Given the description of an element on the screen output the (x, y) to click on. 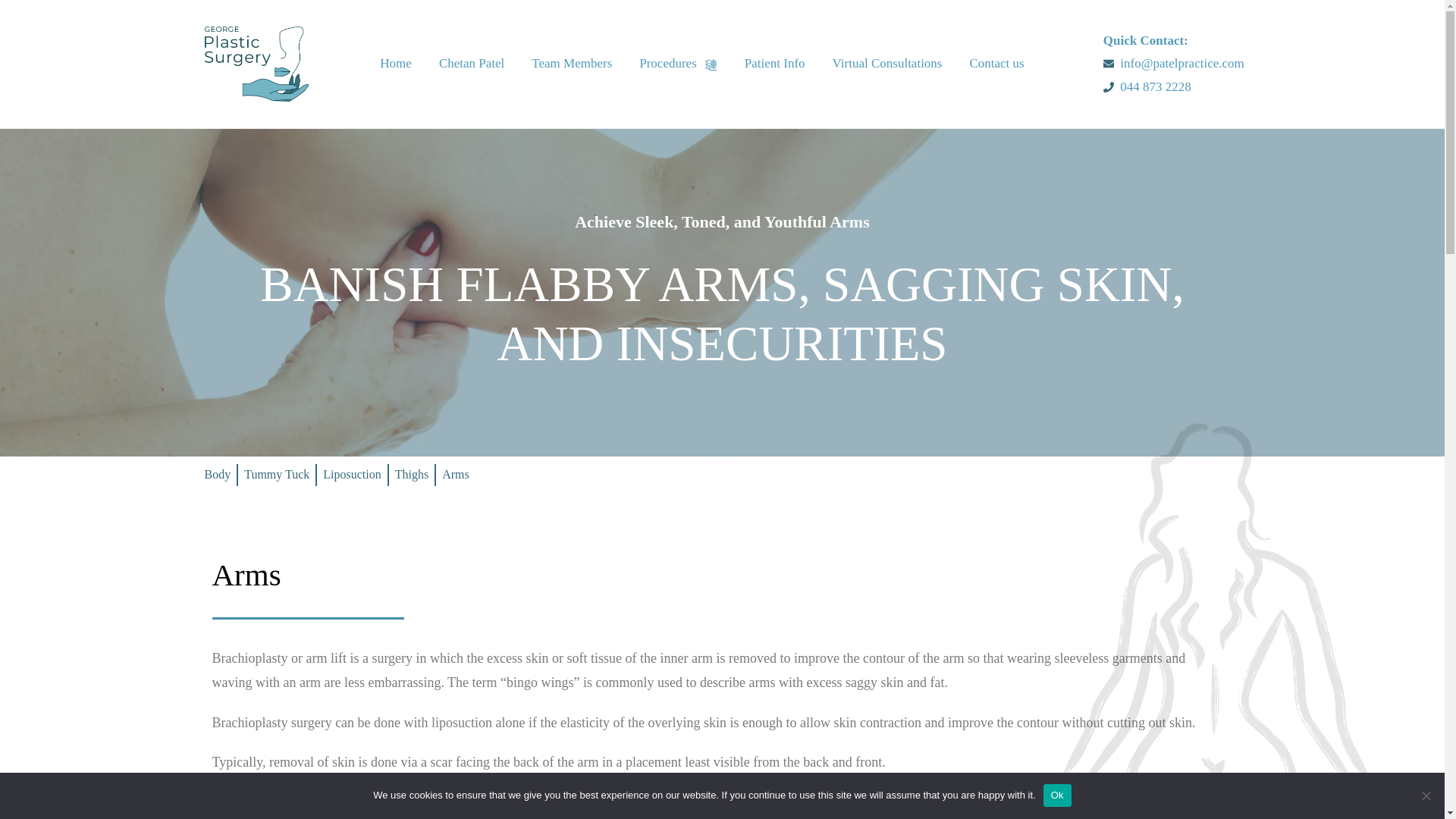
Virtual Consultations (887, 63)
Team Members (572, 63)
Patient Info (774, 63)
Body (173, 475)
Chetan Patel (471, 63)
044 873 2228 (1168, 87)
Home (395, 63)
Procedures (678, 63)
No (1425, 795)
Thighs (381, 475)
Liposuction (317, 475)
Arms (427, 475)
Tummy Tuck (235, 475)
Contact us (995, 63)
